Given the description of an element on the screen output the (x, y) to click on. 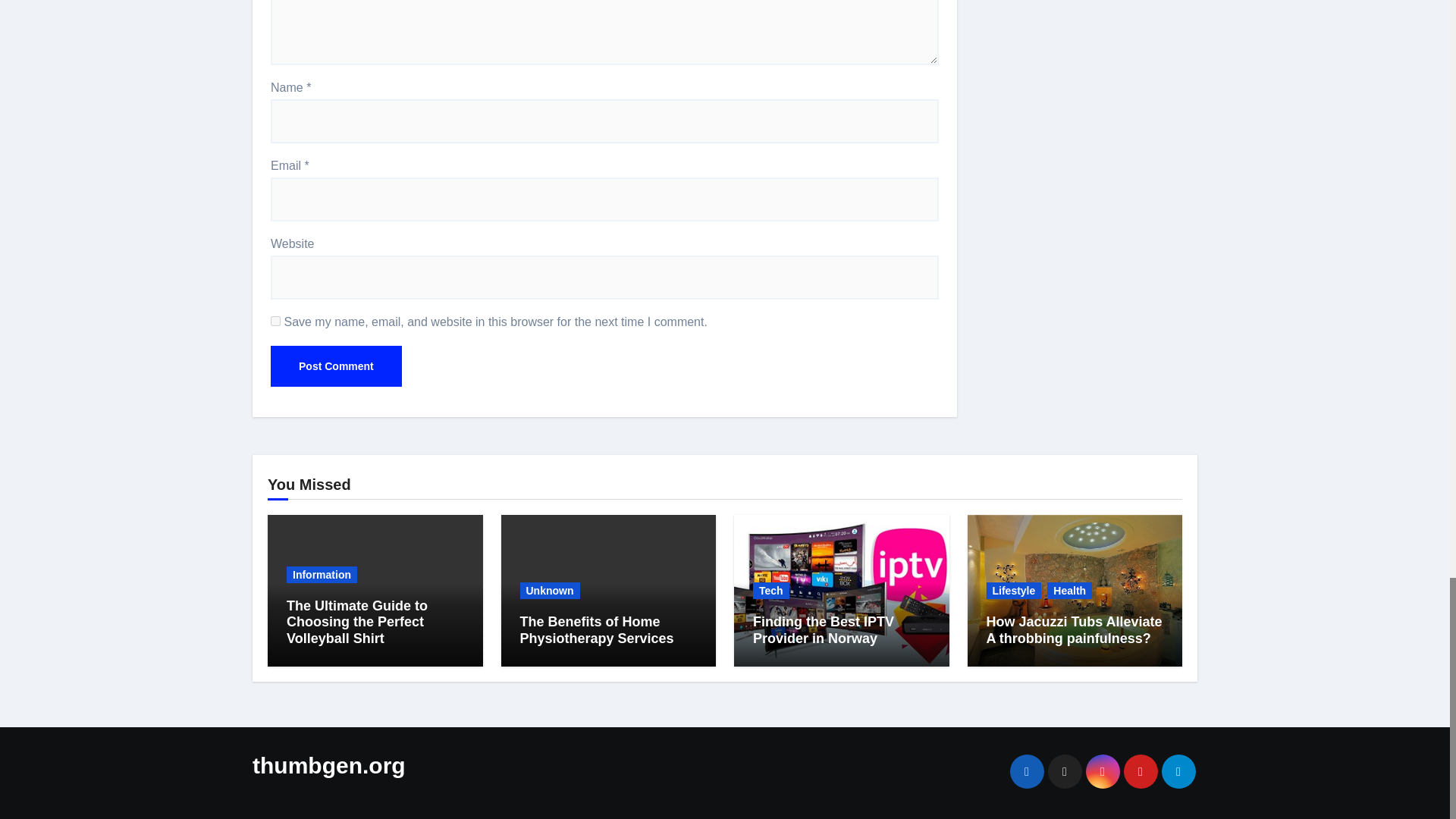
yes (275, 320)
Post Comment (335, 365)
